Given the description of an element on the screen output the (x, y) to click on. 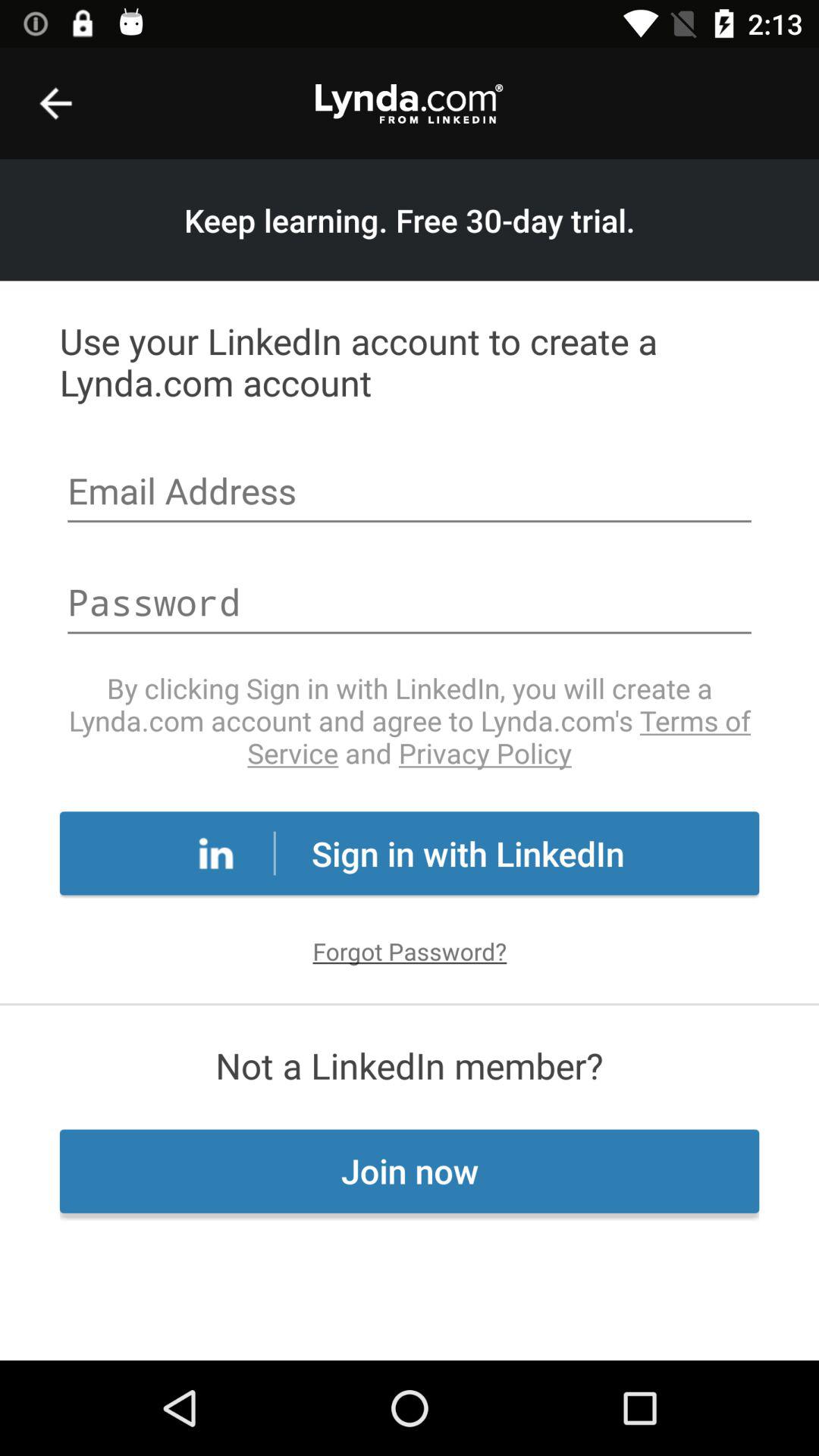
jump to the forgot password? (409, 951)
